Given the description of an element on the screen output the (x, y) to click on. 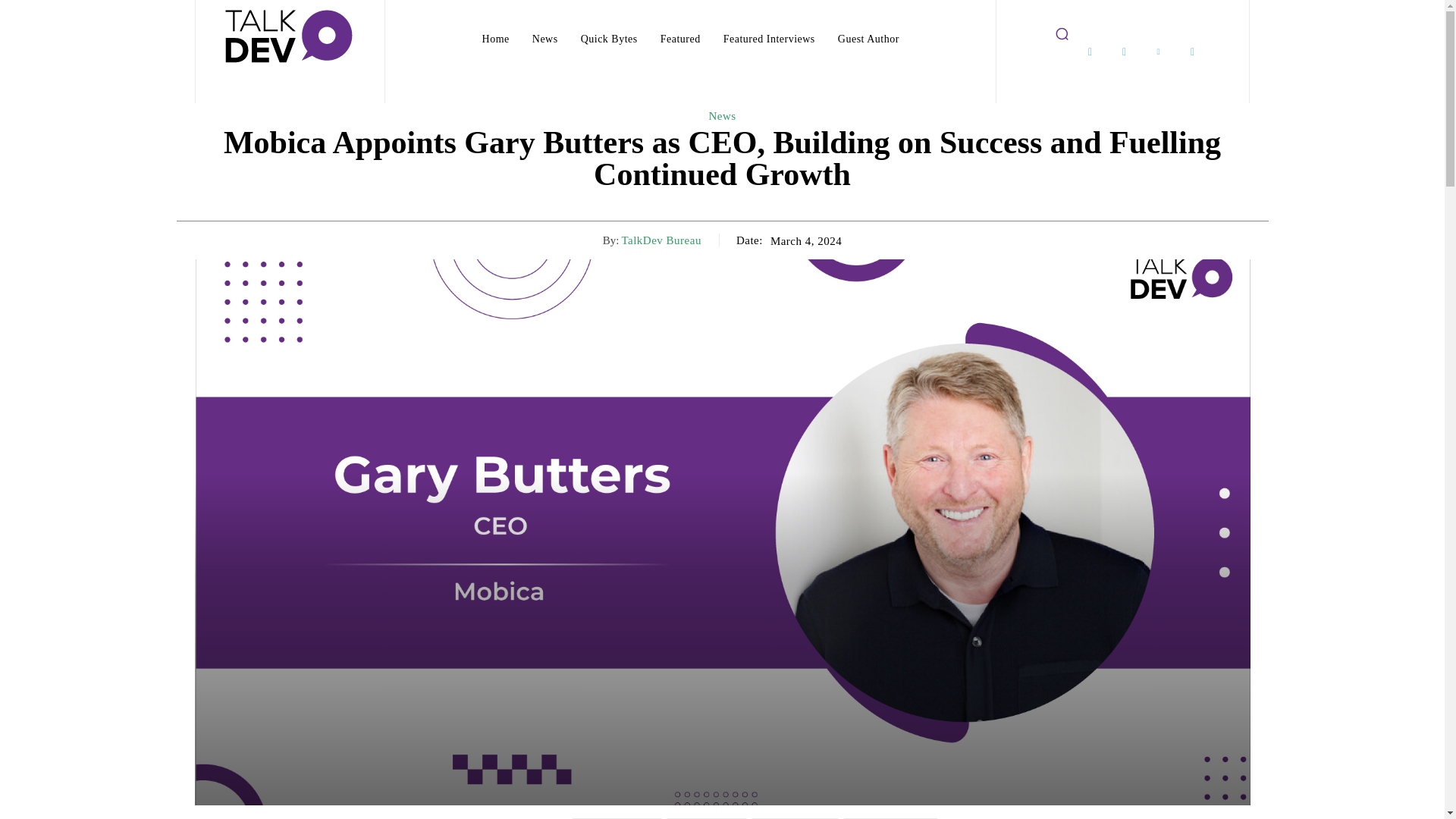
Featured (679, 39)
Quick Bytes (609, 39)
